Given the description of an element on the screen output the (x, y) to click on. 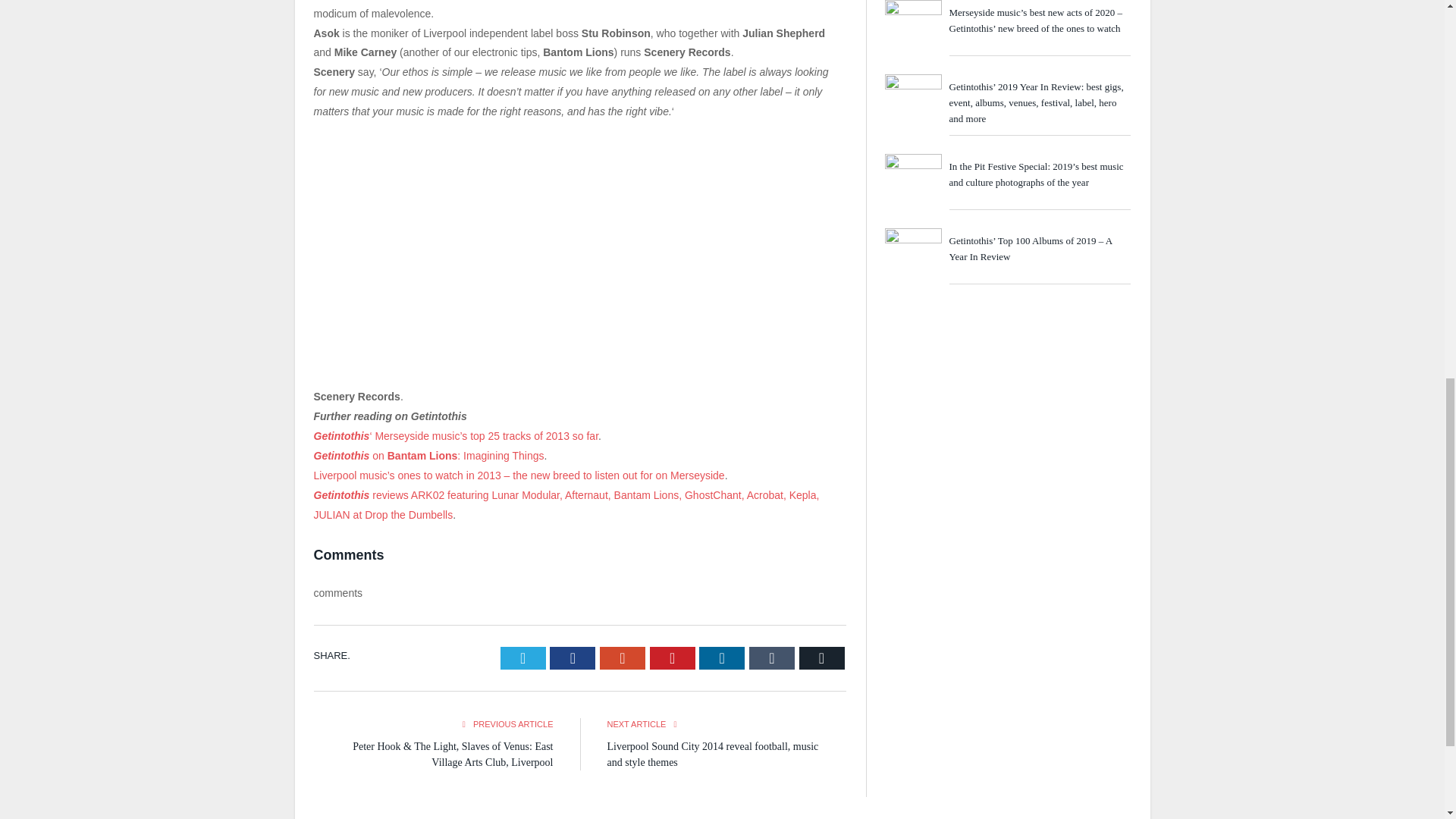
Getintothis on Bantam Lions: Imagining Things (429, 455)
LinkedIn (721, 658)
Tweet It (523, 658)
Twitter (523, 658)
Pinterest (672, 658)
Share on Pinterest (672, 658)
Email (821, 658)
Facebook (572, 658)
Tumblr (771, 658)
Share on Tumblr (771, 658)
Share on Facebook (572, 658)
Share on LinkedIn (721, 658)
Share via Email (821, 658)
